Given the description of an element on the screen output the (x, y) to click on. 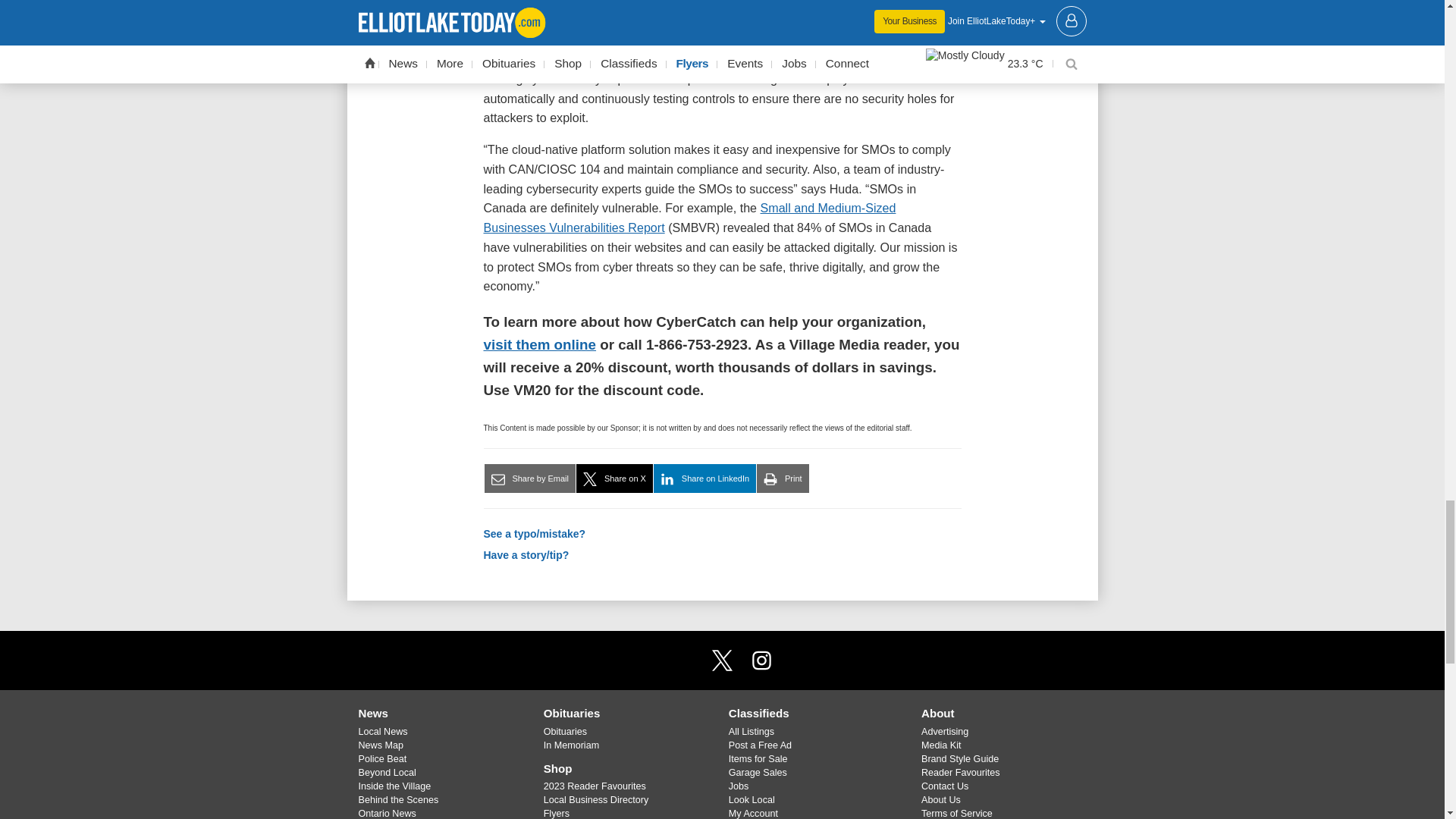
Facebook (683, 660)
X (721, 660)
Instagram (760, 660)
